Given the description of an element on the screen output the (x, y) to click on. 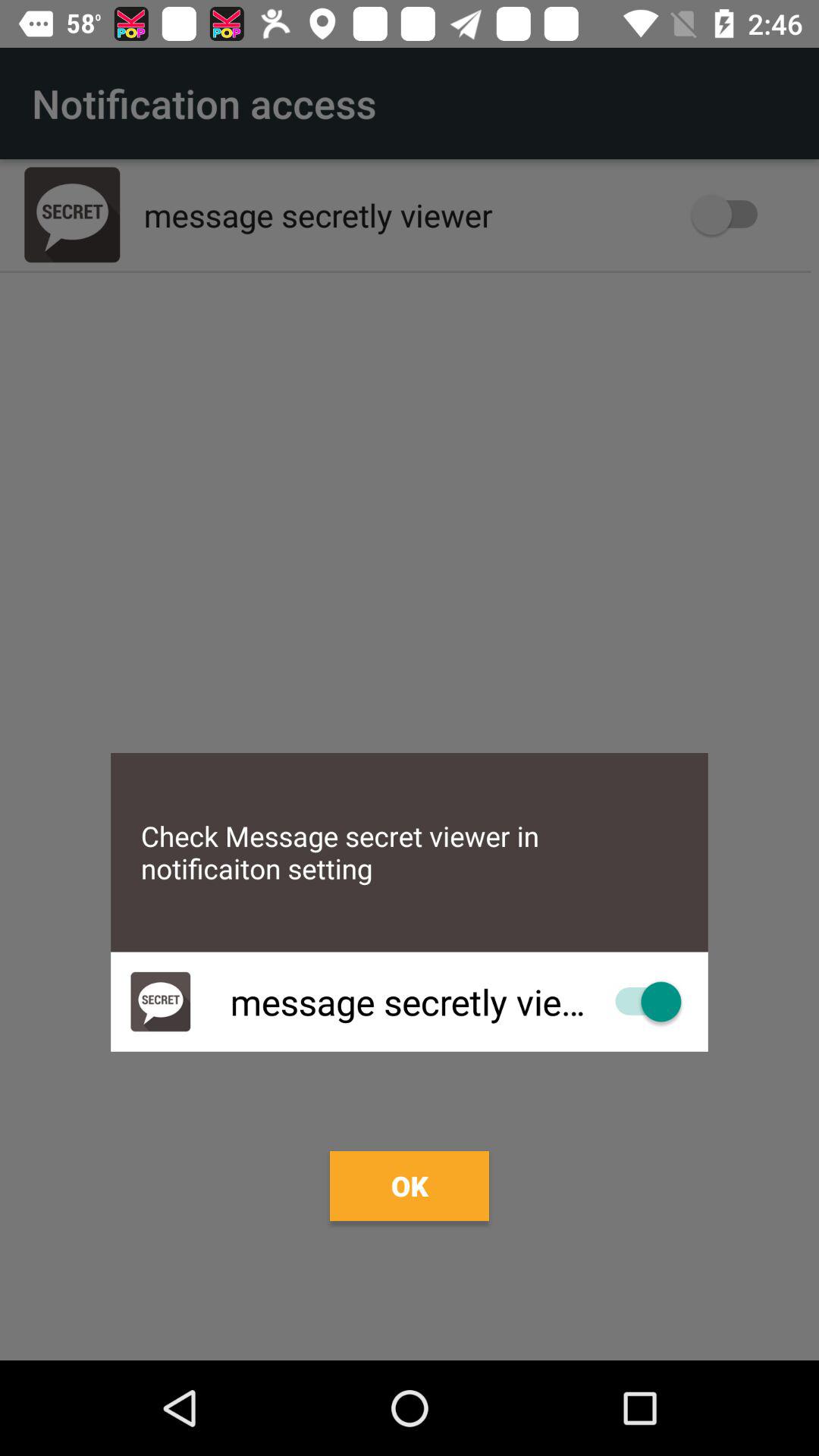
swipe until the ok icon (409, 1186)
